Given the description of an element on the screen output the (x, y) to click on. 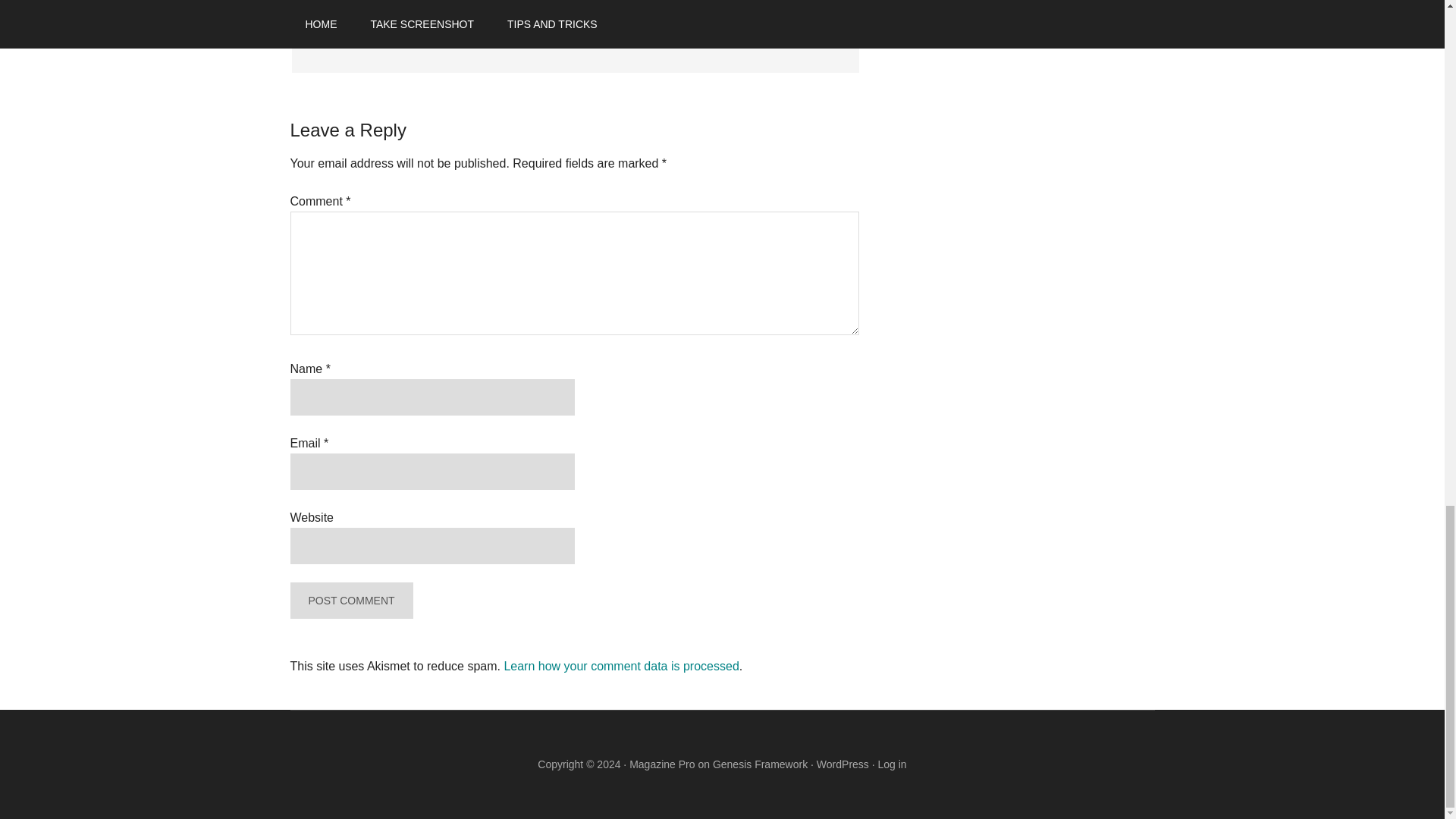
Reply (330, 38)
Genesis Framework (760, 764)
WordPress (842, 764)
Magazine Pro (661, 764)
Log in (892, 764)
Learn how your comment data is processed (620, 666)
Post Comment (350, 600)
Post Comment (350, 600)
